Given the description of an element on the screen output the (x, y) to click on. 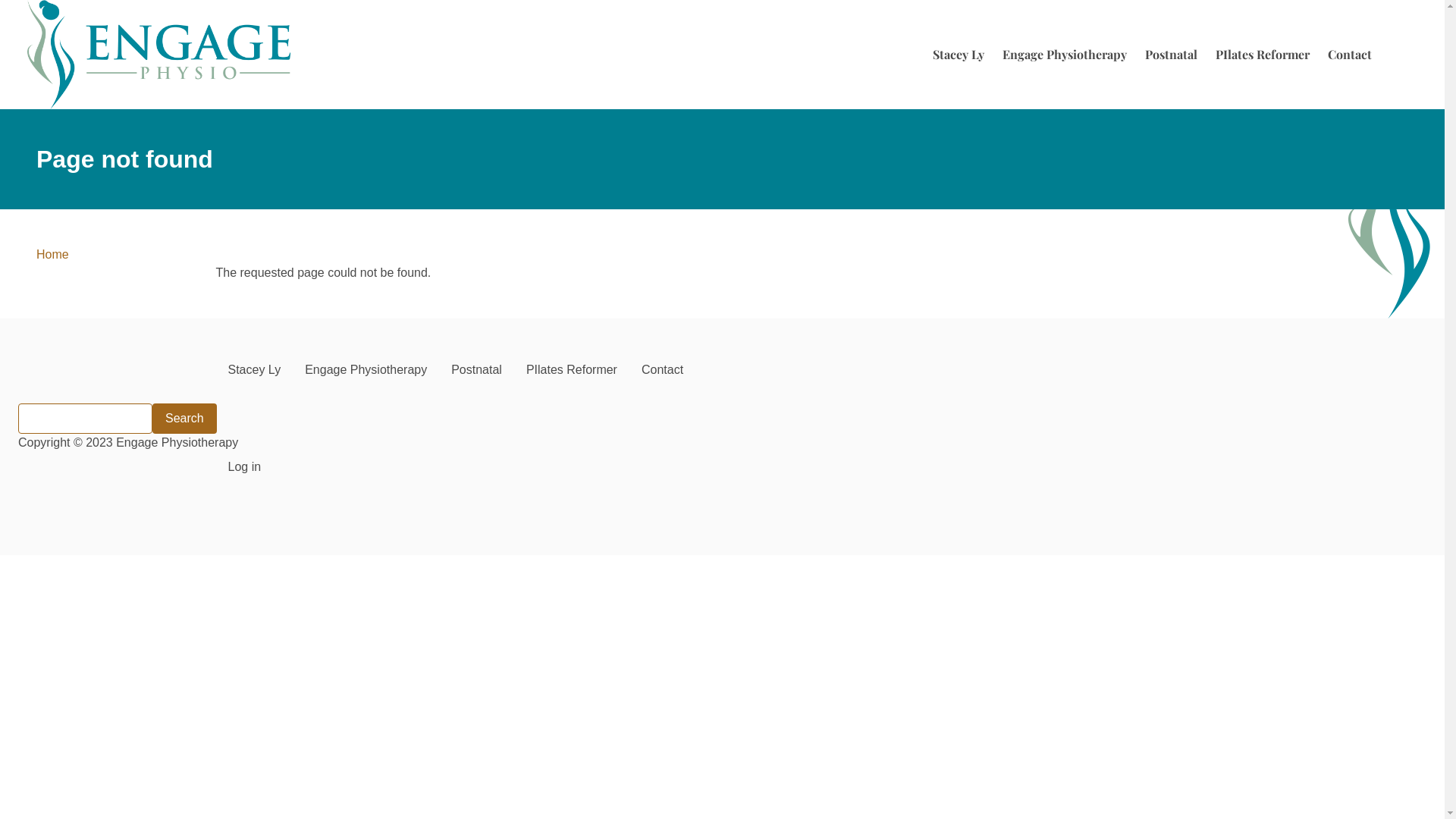
PIlates Reformer Element type: text (571, 369)
Skip to main content Element type: text (0, 0)
Postnatal Element type: text (1170, 54)
Home Element type: text (57, 254)
Contact Element type: text (1349, 54)
Engage Physiotherapy Element type: text (1064, 54)
Enter the terms you wish to search for. Element type: hover (85, 418)
Engage Physiotherapy Element type: text (365, 369)
Contact Element type: text (662, 369)
Postnatal Element type: text (476, 369)
Stacey Ly Element type: text (958, 54)
Home Element type: hover (158, 54)
Log in Element type: text (244, 467)
Stacey Ly Element type: text (253, 369)
Search Element type: text (184, 418)
PIlates Reformer Element type: text (1262, 54)
